Given the description of an element on the screen output the (x, y) to click on. 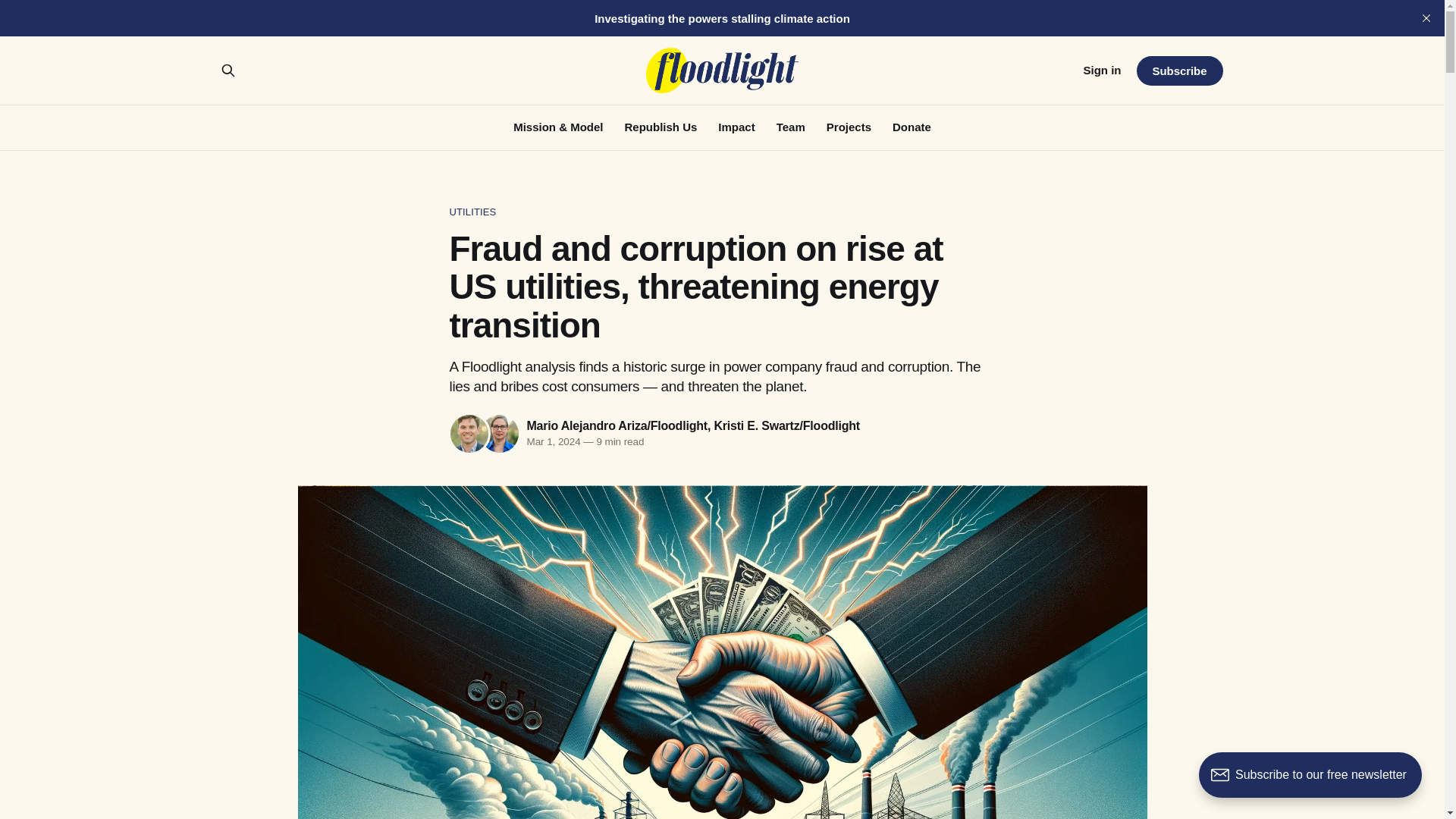
Donate (911, 126)
Subscribe (1179, 70)
UTILITIES (721, 212)
Republish Us (660, 126)
Projects (848, 126)
Team (790, 126)
Sign in (1102, 70)
Impact (735, 126)
